Given the description of an element on the screen output the (x, y) to click on. 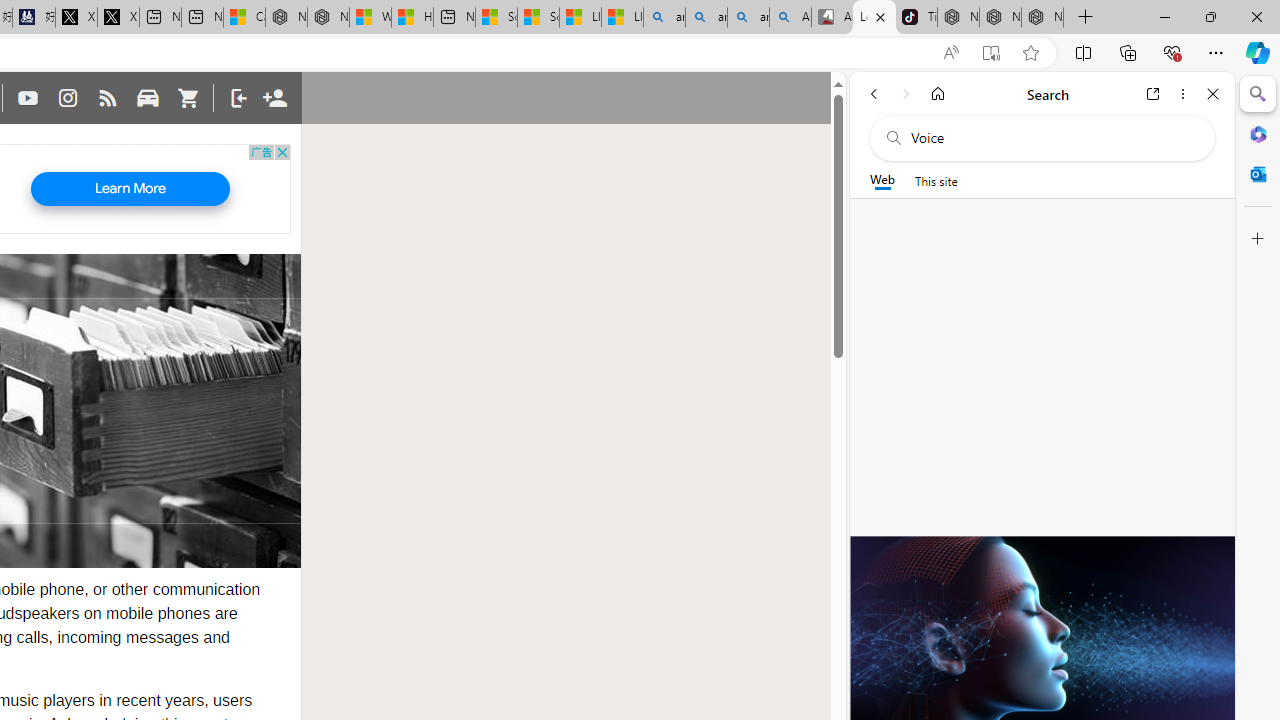
amazon - Search Images (748, 17)
Nordace - Siena Pro 15 Essential Set (1042, 17)
This site scope (936, 180)
